Given the description of an element on the screen output the (x, y) to click on. 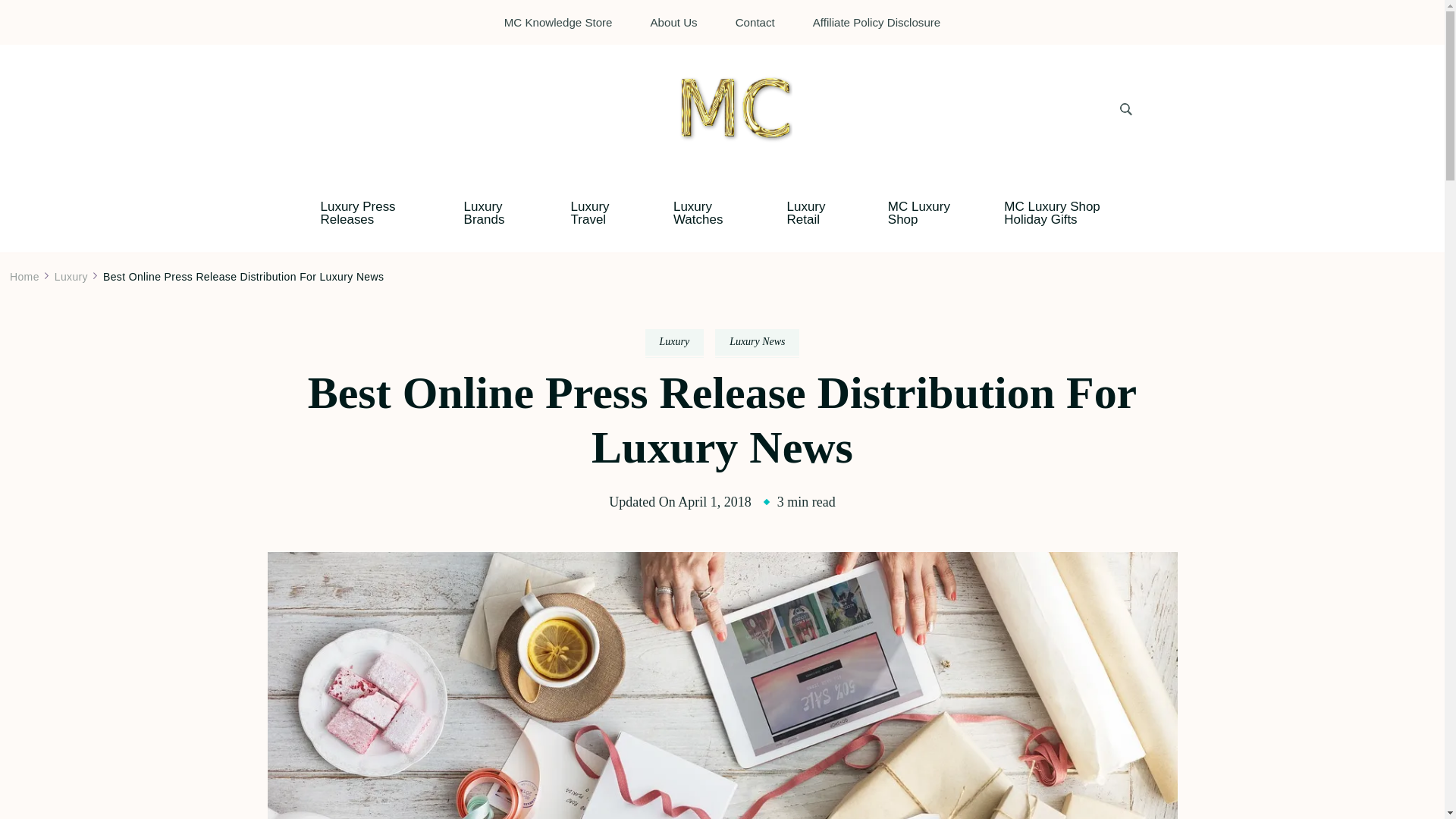
Luxury Brands (494, 212)
Contact (754, 21)
Luxury Travel (598, 212)
Luxury Retail (815, 212)
Affiliate Policy Disclosure (876, 21)
About Us (673, 21)
MC Mosnar Communications (823, 157)
MC Knowledge Store (557, 21)
MC Luxury Shop (923, 212)
Luxury Watches (706, 212)
Luxury Press Releases (368, 212)
MC Luxury Shop Holiday Gifts (1067, 212)
